Given the description of an element on the screen output the (x, y) to click on. 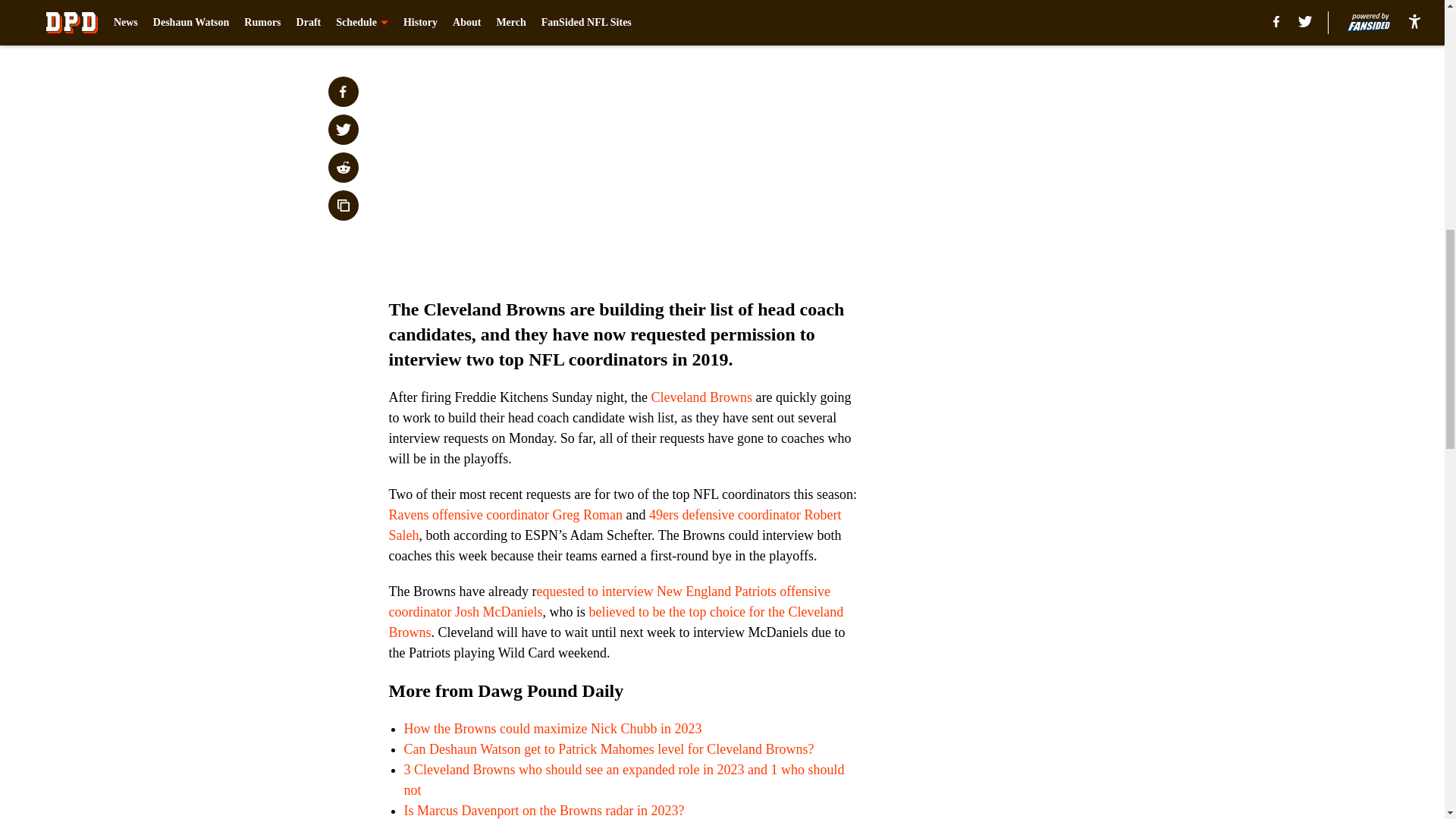
Is Marcus Davenport on the Browns radar in 2023? (543, 810)
Ravens offensive coordinator Greg Roman (505, 514)
believed to be the top choice for the Cleveland Browns (615, 621)
How the Browns could maximize Nick Chubb in 2023 (552, 728)
49ers defensive coordinator Robert Saleh (614, 524)
Cleveland Browns (700, 396)
